Given the description of an element on the screen output the (x, y) to click on. 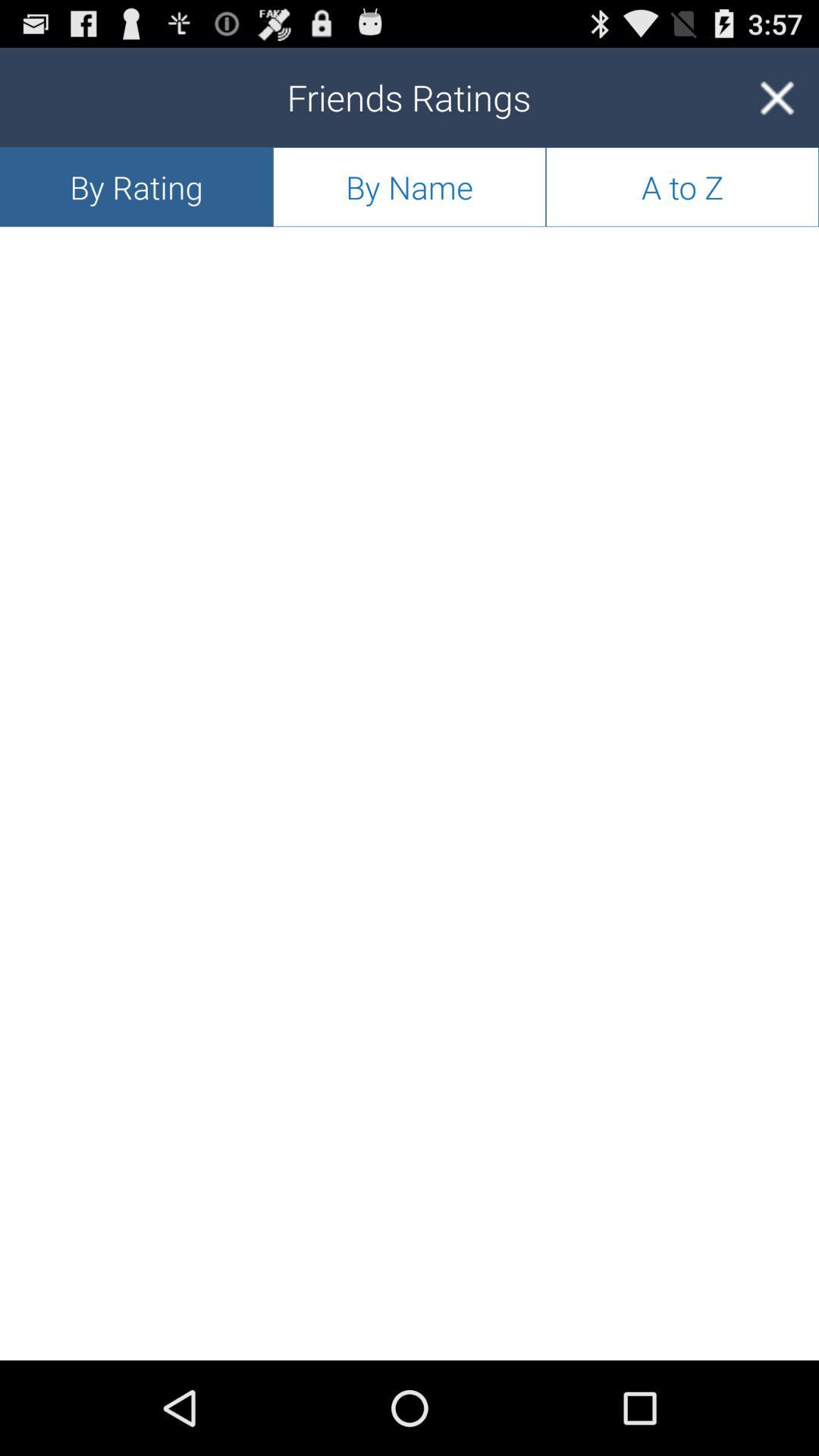
launch the item next to the by rating (409, 186)
